Given the description of an element on the screen output the (x, y) to click on. 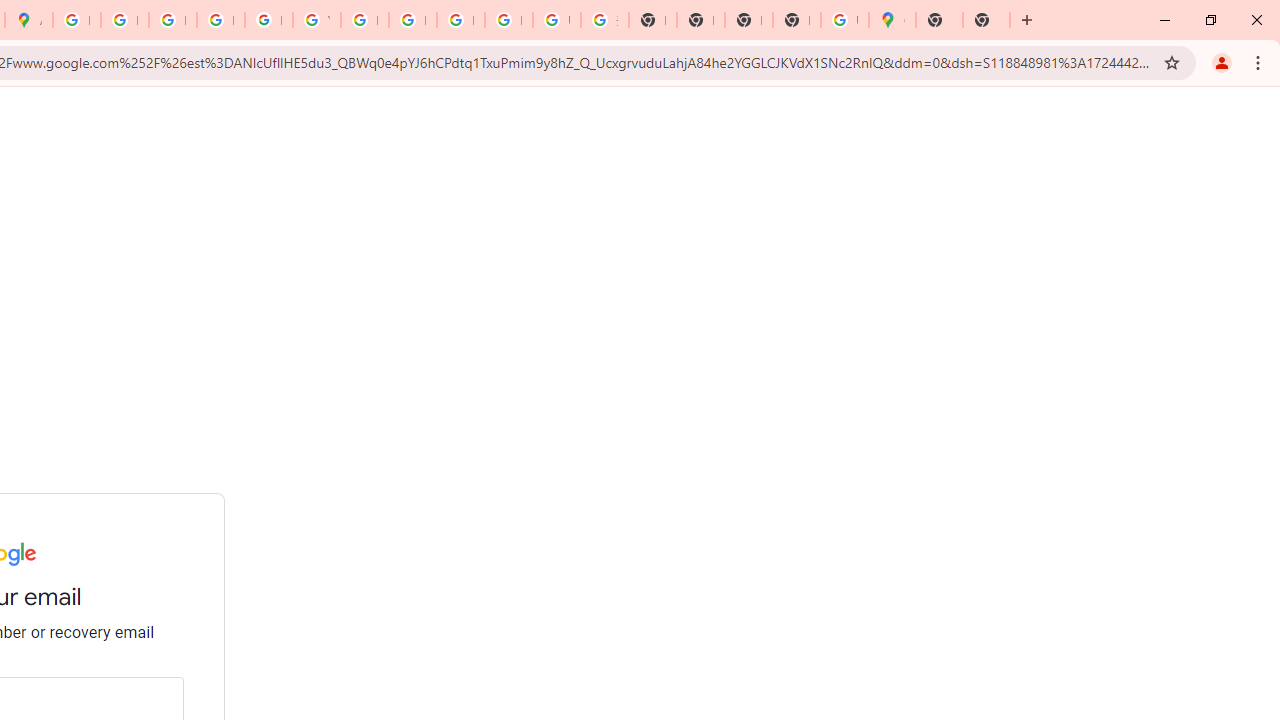
Policy Accountability and Transparency - Transparency Center (76, 20)
YouTube (316, 20)
New Tab (985, 20)
